Given the description of an element on the screen output the (x, y) to click on. 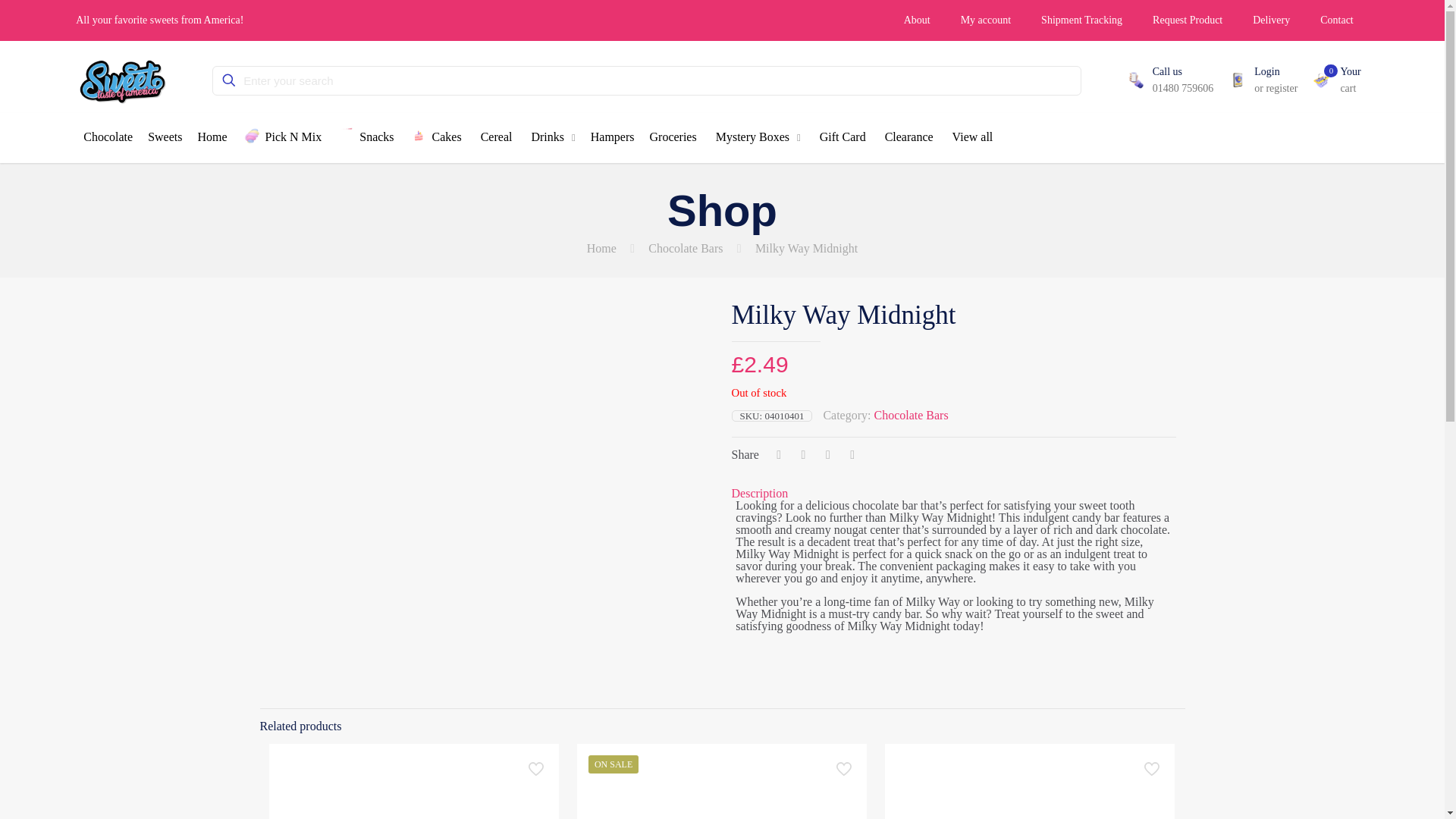
Request Product (1187, 20)
Contact (1336, 20)
About (916, 20)
Delivery (1270, 20)
My account (985, 20)
Shipment Tracking (1081, 20)
